Given the description of an element on the screen output the (x, y) to click on. 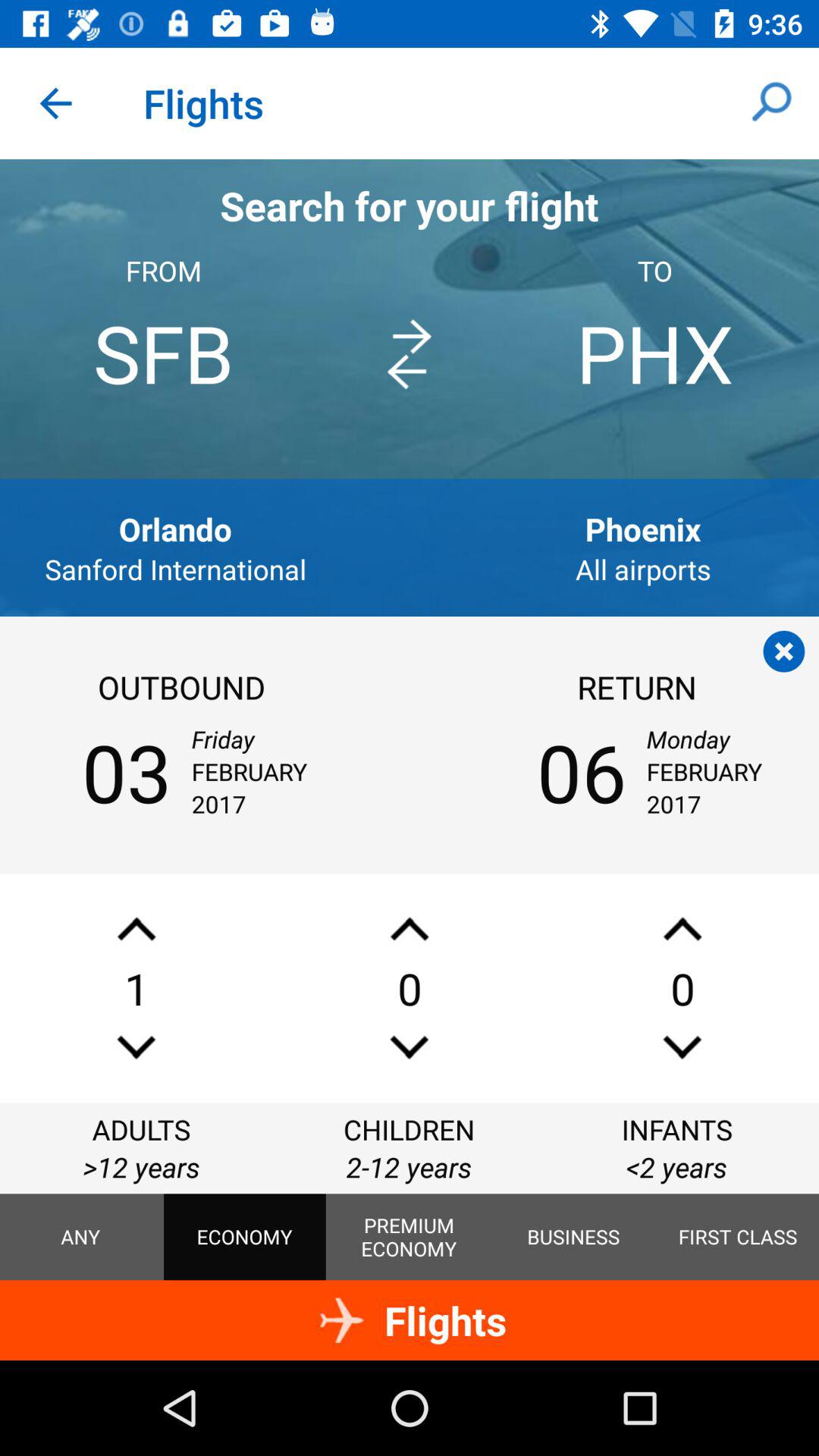
tap increment one option (409, 928)
